Given the description of an element on the screen output the (x, y) to click on. 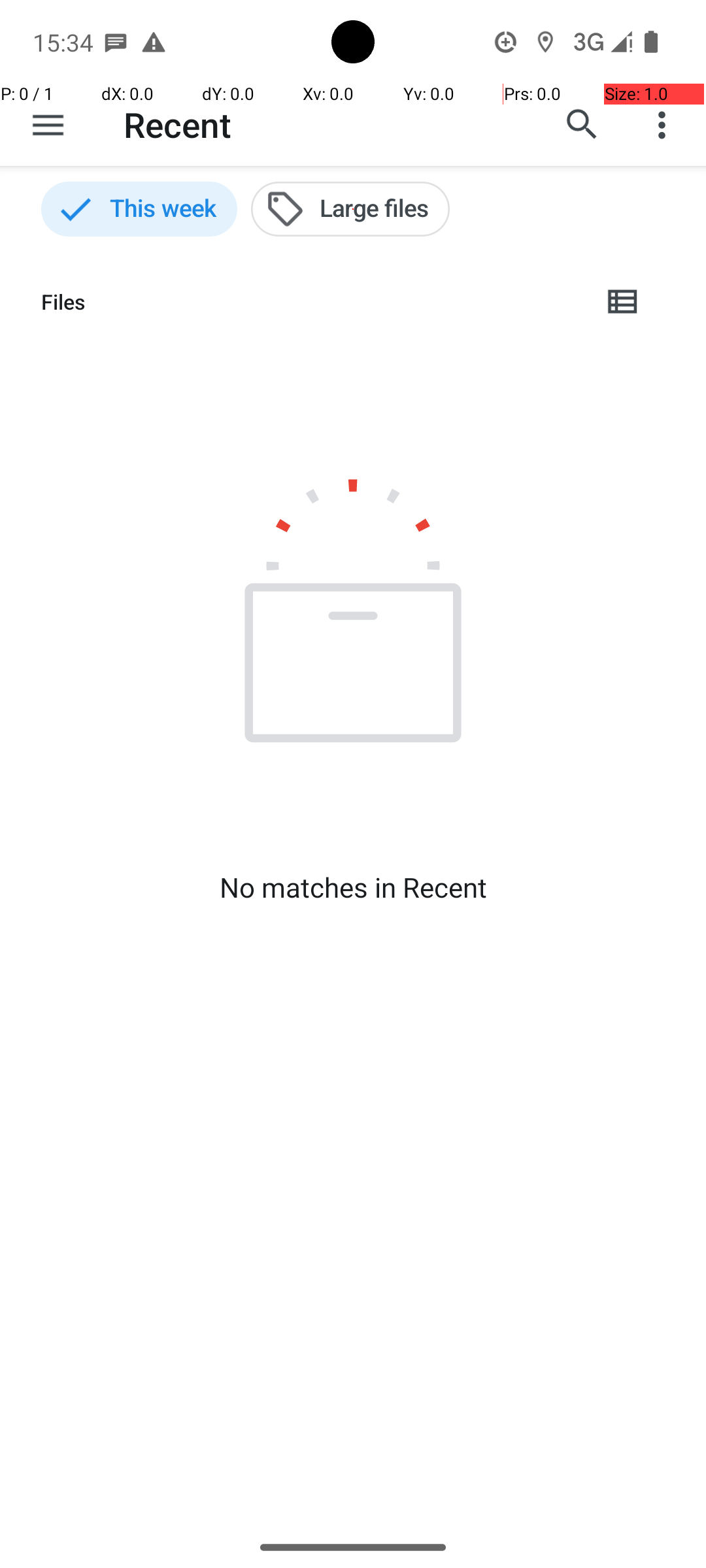
Show roots Element type: android.widget.ImageButton (48, 124)
Recent Element type: android.widget.TextView (177, 124)
Files Element type: android.widget.TextView (311, 301)
List view Element type: android.widget.TextView (622, 301)
This week Element type: android.widget.CompoundButton (139, 208)
Large files Element type: android.widget.CompoundButton (350, 208)
No matches in Recent Element type: android.widget.TextView (352, 886)
